Given the description of an element on the screen output the (x, y) to click on. 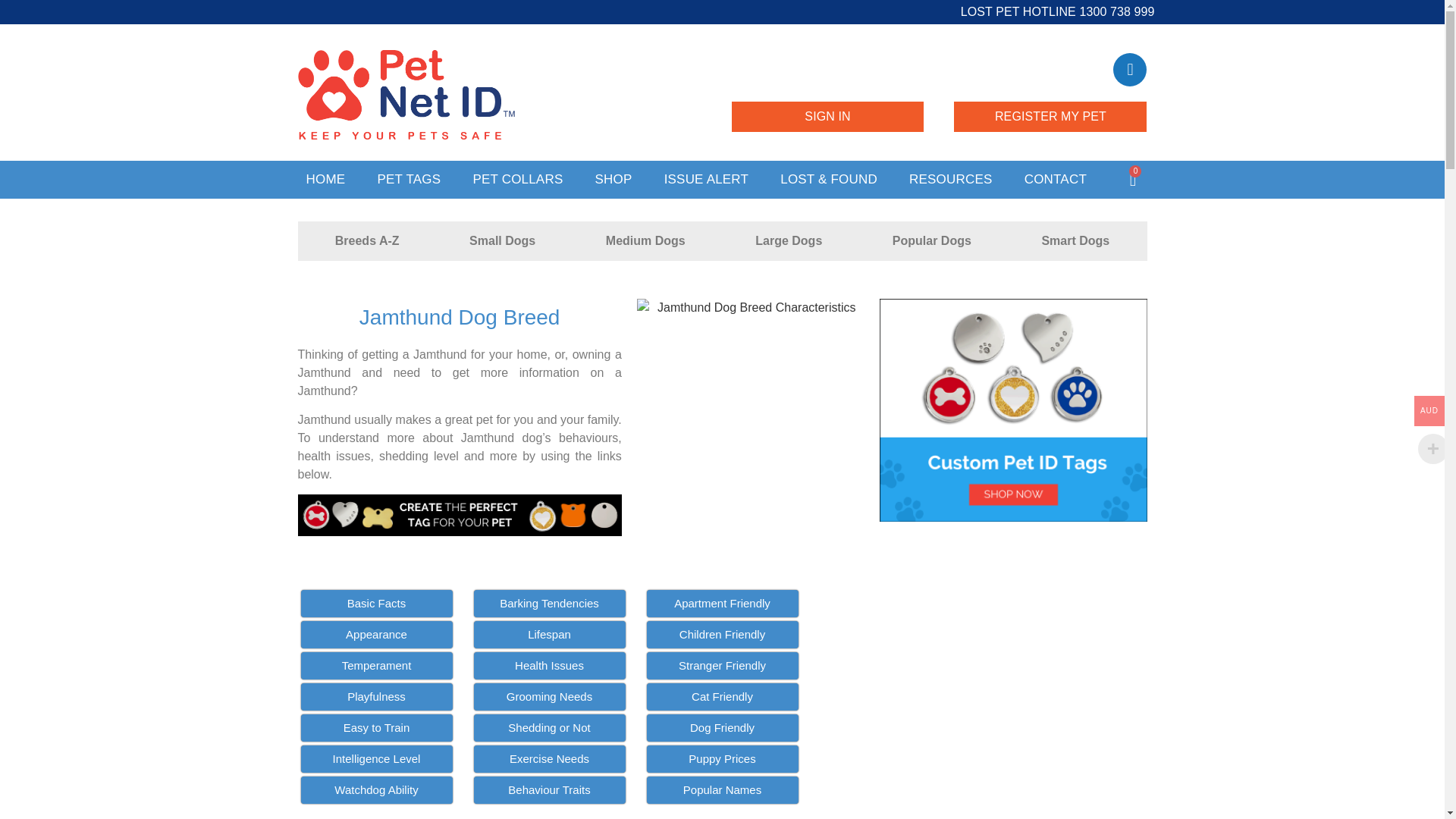
Jamthund Breed Behaviour Traits and Problems (548, 789)
Jamthund breed facts (375, 603)
RESOURCES (951, 179)
How does a Jamthund dog look like and Jamthund colors? (375, 634)
Jamthund Health issues Problems and Symptoms (548, 665)
Are Jamthund dogs apartment friendly? (721, 603)
PET COLLARS (517, 179)
SHOP (612, 179)
Is Jamthund breed good with kids? (721, 634)
REGISTER MY PET (1050, 116)
